Given the description of an element on the screen output the (x, y) to click on. 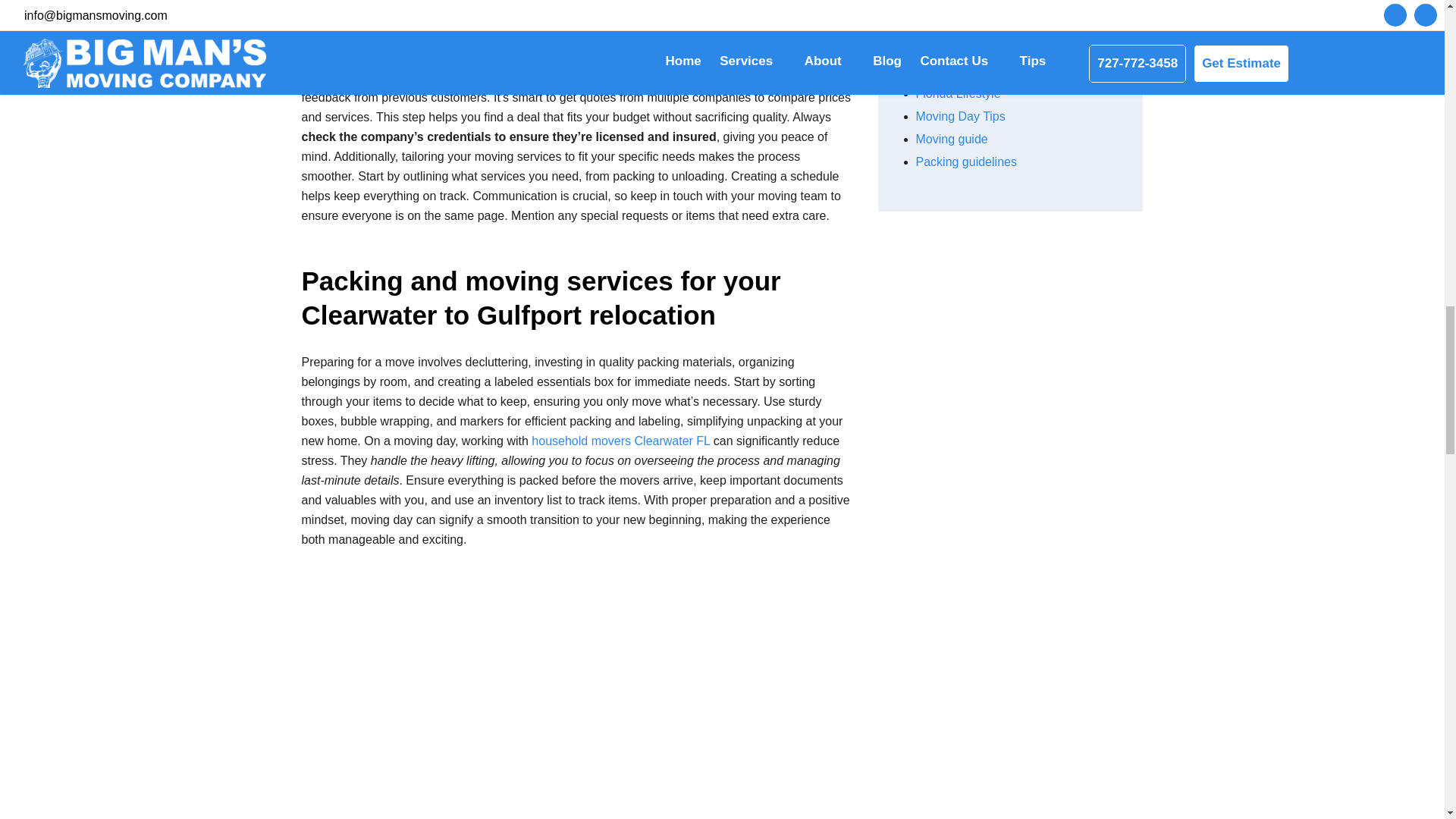
movers Gulfport FL (568, 67)
household movers Clearwater FL (620, 440)
